Given the description of an element on the screen output the (x, y) to click on. 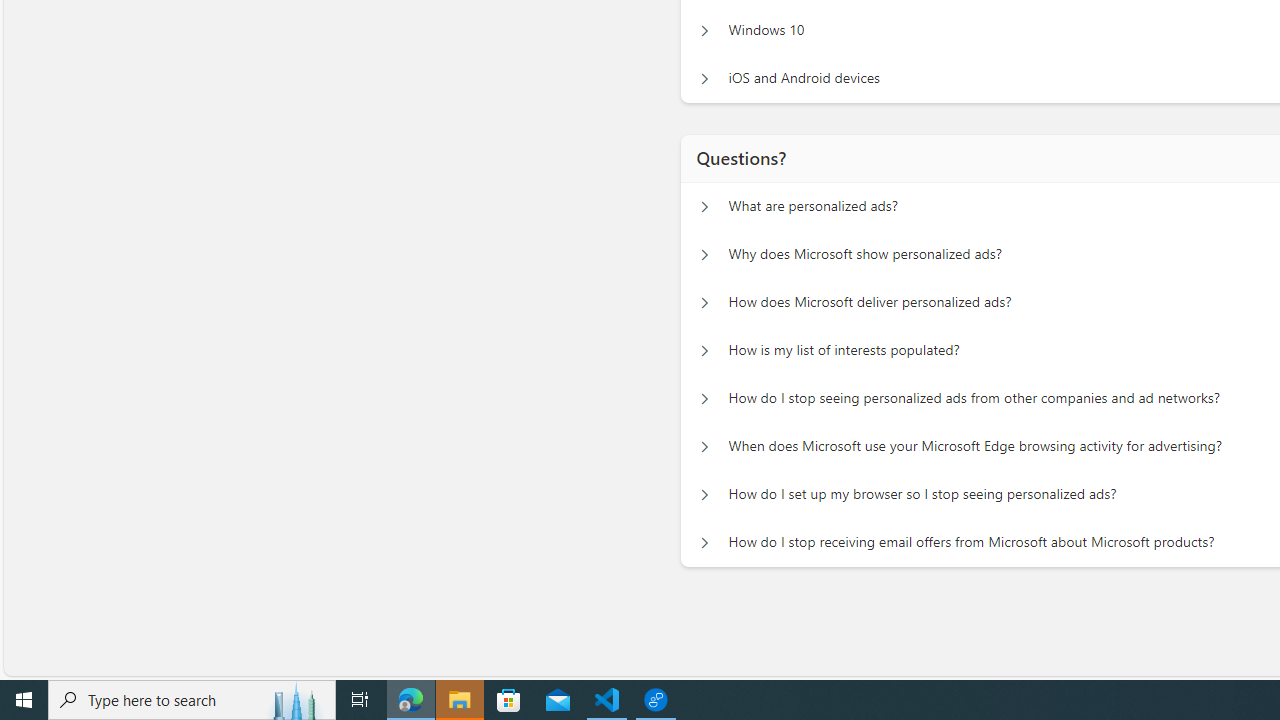
Questions? How does Microsoft deliver personalized ads? (704, 302)
Manage personalized ads on your device Windows 10 (704, 30)
Questions? What are personalized ads? (704, 206)
Questions? Why does Microsoft show personalized ads? (704, 255)
Questions? How is my list of interests populated? (704, 350)
